Given the description of an element on the screen output the (x, y) to click on. 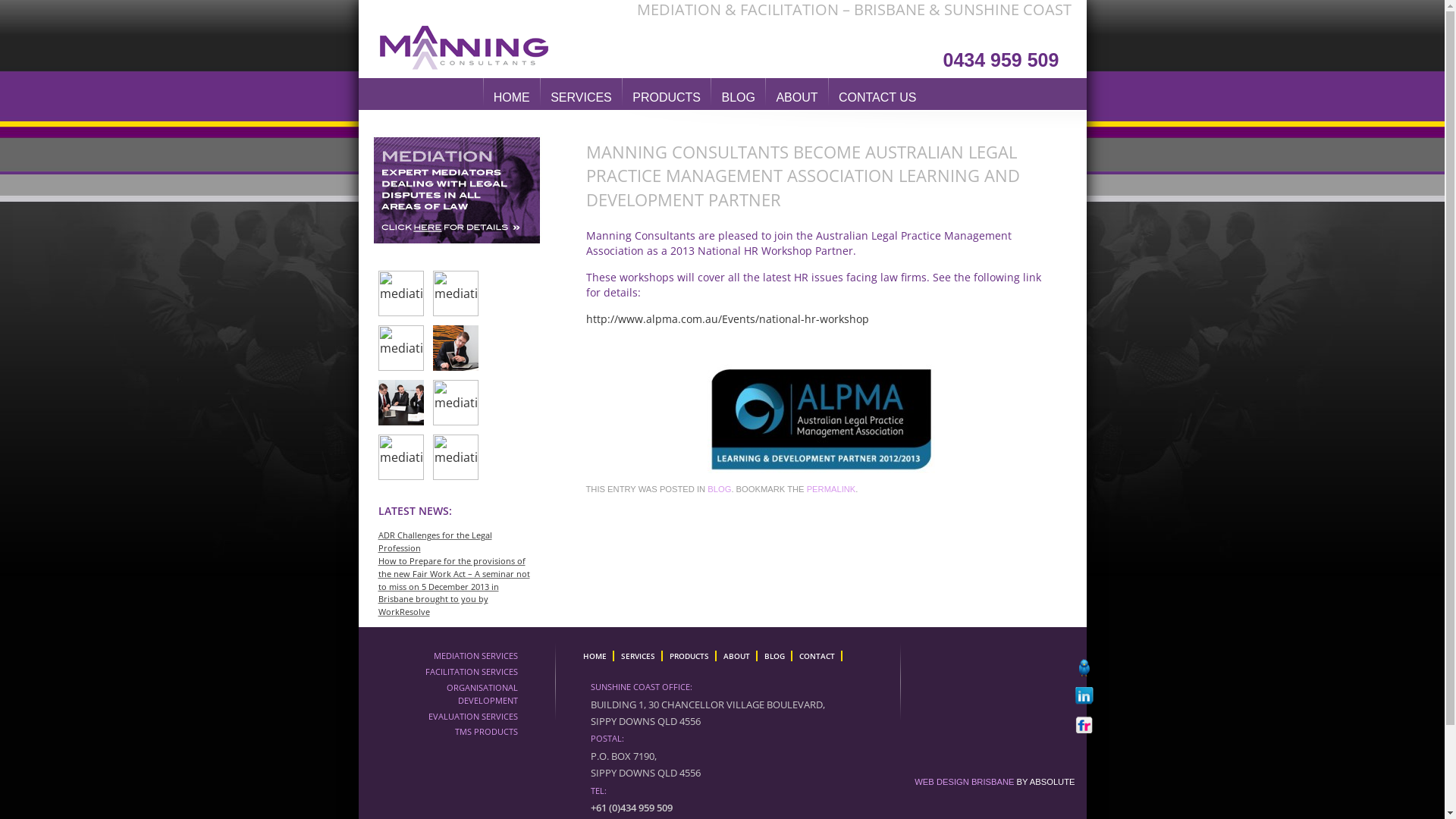
BLOG Element type: text (775, 655)
BLOG Element type: text (737, 97)
FACILITATION SERVICES Element type: text (470, 671)
TMS PRODUCTS Element type: text (486, 731)
MEDIATION SERVICES Element type: text (475, 655)
mediation_05 Element type: hover (400, 402)
LINKEDIN Element type: text (1086, 695)
mediation_07 Element type: hover (400, 347)
mediation_02 Element type: hover (400, 293)
ORGANISATIONAL DEVELOPMENT Element type: text (462, 694)
mediation_04 Element type: hover (454, 402)
mediation_02 Element type: hover (400, 457)
HOME Element type: text (595, 655)
PRODUCTS Element type: text (689, 655)
CONTACT US Element type: text (877, 97)
EVALUATION SERVICES Element type: text (472, 716)
WEB DESIGN BRISBANE Element type: text (963, 782)
BLOG Element type: text (719, 489)
ALPMA-Learning-&-Development-Partner-2012_2013-Logo Element type: hover (820, 418)
CONTACT Element type: text (818, 655)
ADR Challenges for the Legal Profession Element type: text (434, 541)
FLICKR Element type: text (1086, 721)
PERMALINK Element type: text (831, 489)
mediation_01 Element type: hover (454, 457)
mediation_08 Element type: hover (454, 293)
PRODUCTS Element type: text (666, 97)
SERVICES Element type: text (638, 655)
TWITTER Element type: text (1086, 669)
MANNING CONSULTANTS Element type: text (472, 43)
SERVICES Element type: text (580, 97)
http://www.alpma.com.au/Events/national-hr-workshop Element type: text (726, 318)
HOME Element type: text (511, 97)
ABOUT Element type: text (737, 655)
mediation_06 Element type: hover (454, 347)
ABOUT Element type: text (796, 97)
